Given the description of an element on the screen output the (x, y) to click on. 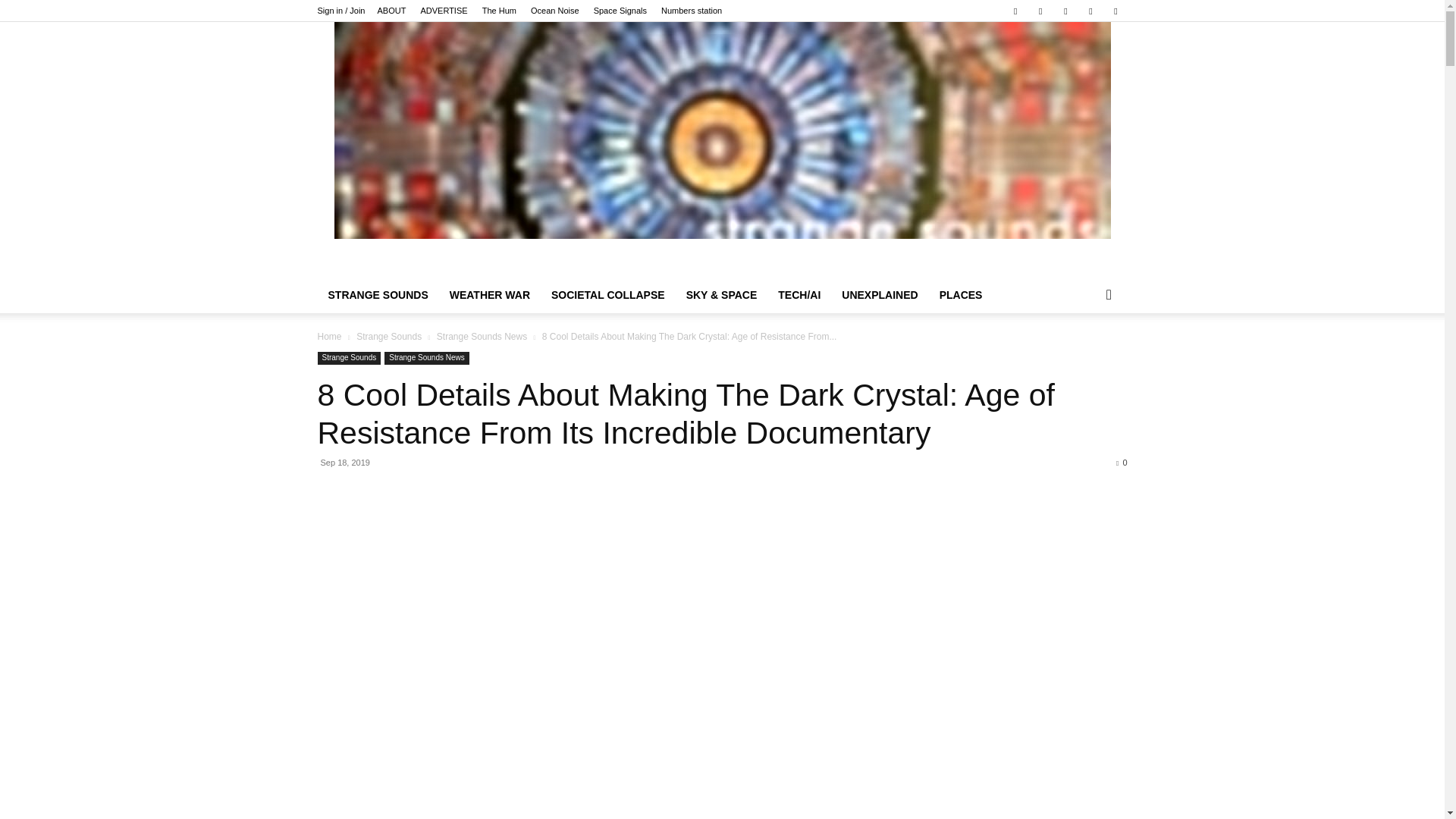
ABOUT (391, 10)
The Hum mysterious phenomenon (498, 10)
Facebook (1015, 10)
Ocean Noise (555, 10)
Paypal (1040, 10)
ADVERTISE ON STRANGE SOUNDS (443, 10)
Numbers station (691, 10)
ADVERTISE (443, 10)
